Given the description of an element on the screen output the (x, y) to click on. 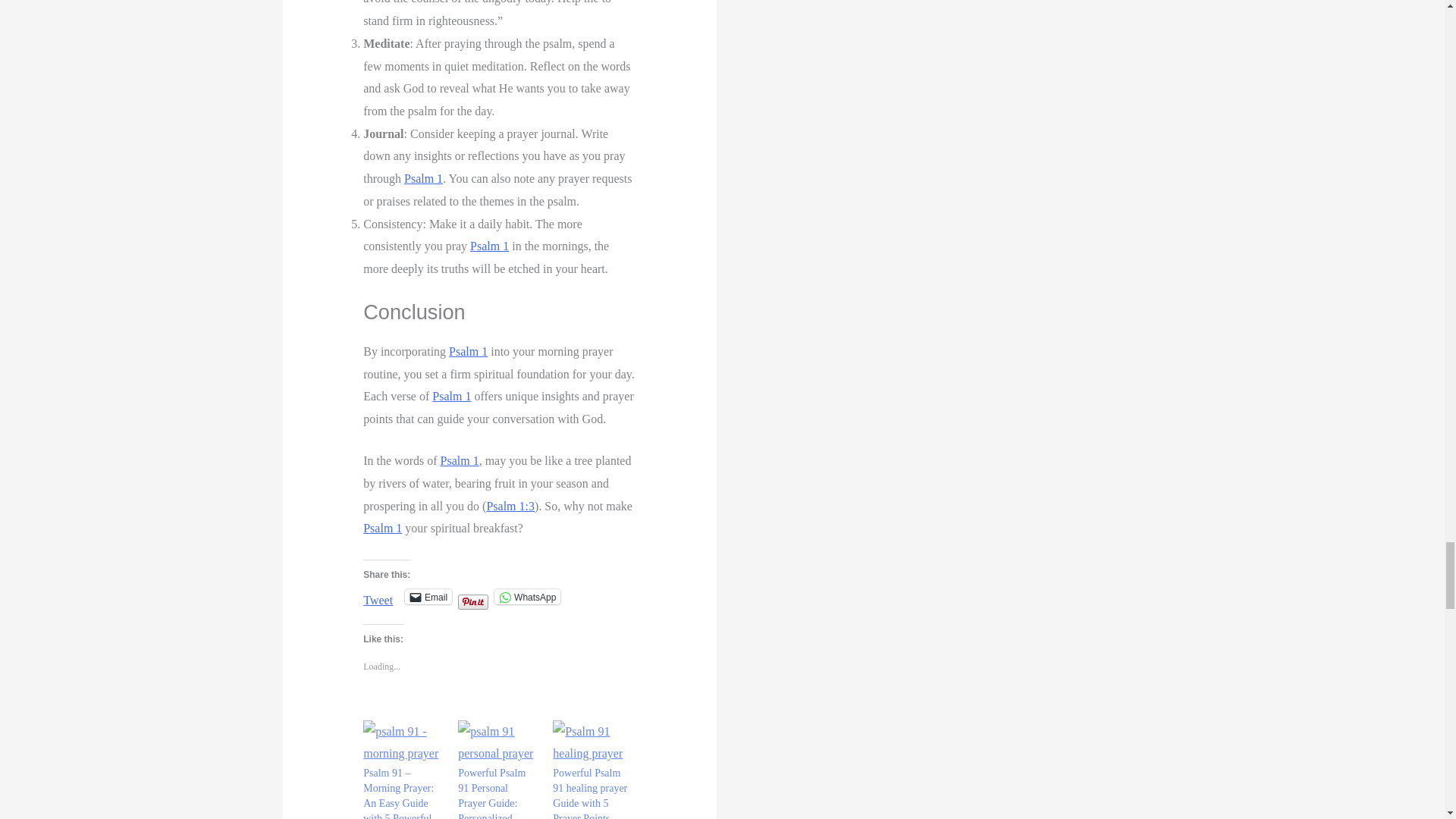
Powerful Psalm 91 healing prayer Guide with 5 Prayer Points (590, 793)
Click to share on WhatsApp (527, 596)
Click to email a link to a friend (427, 596)
Powerful Psalm 91 healing prayer Guide with 5 Prayer Points (592, 742)
